Given the description of an element on the screen output the (x, y) to click on. 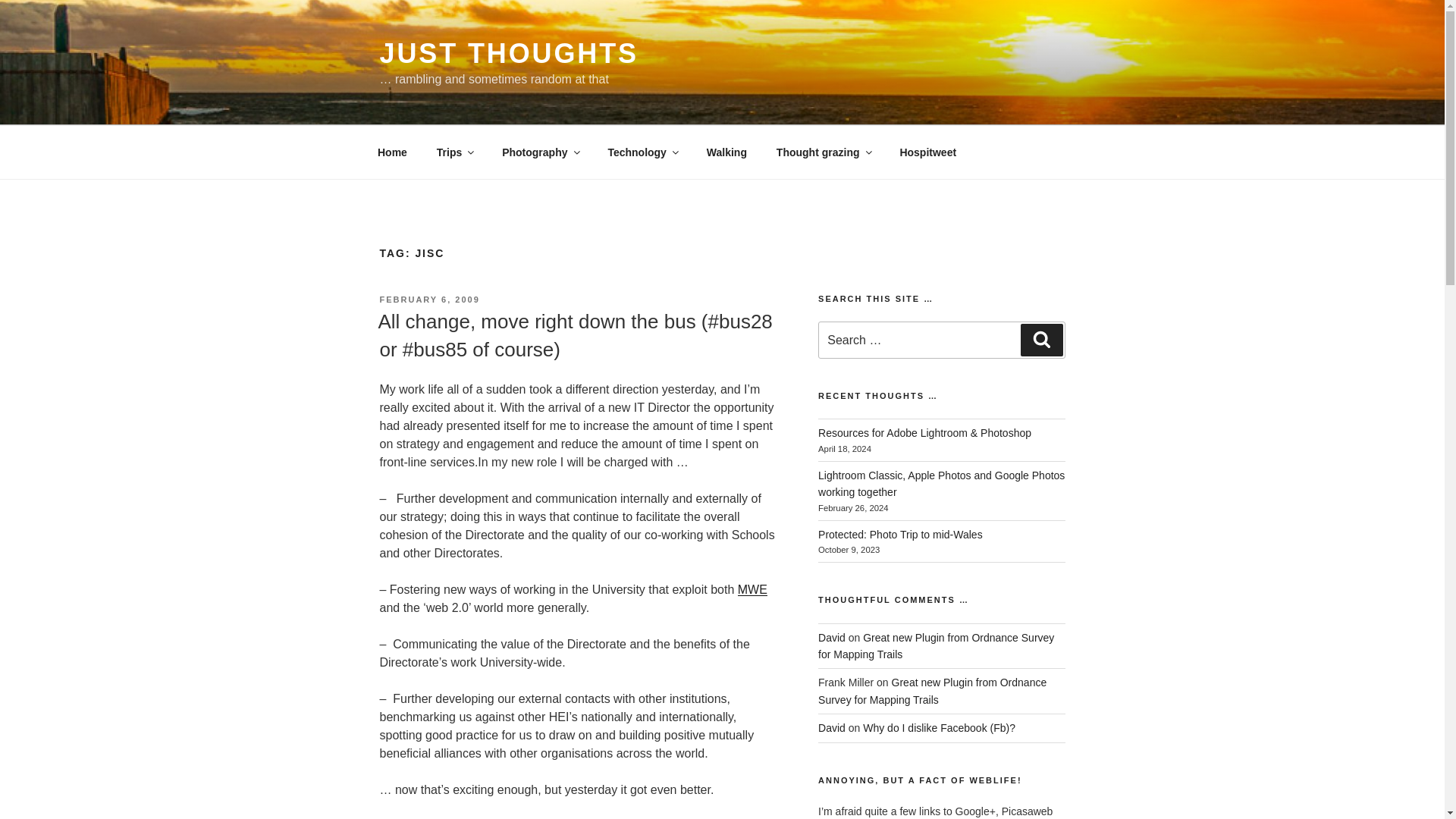
Thought grazing (822, 151)
Search (1041, 339)
Photography (540, 151)
JUST THOUGHTS (507, 52)
Hospitweet (927, 151)
MW (748, 589)
Trips (453, 151)
Technology (642, 151)
Walking (726, 151)
Home (392, 151)
